Given the description of an element on the screen output the (x, y) to click on. 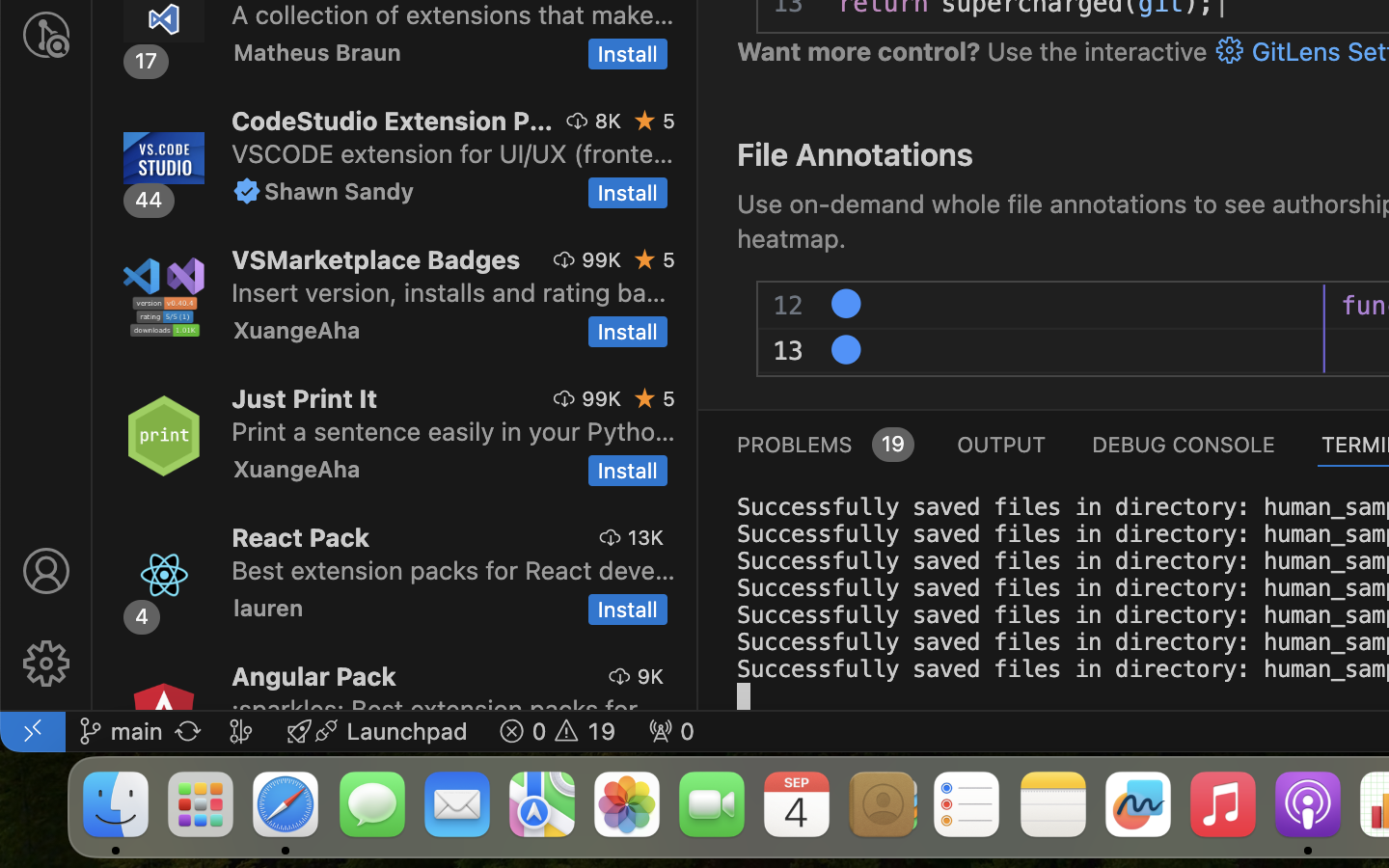
VSCODE extension for UI/UX (frontend) development Element type: AXStaticText (453, 152)
Angular Pack Element type: AXStaticText (314, 675)
A collection of extensions that makes vscode more productive (and cool). Element type: AXStaticText (453, 14)
Shawn Sandy Element type: AXStaticText (339, 190)
Best extension packs for React development and more. Element type: AXStaticText (453, 569)
